Given the description of an element on the screen output the (x, y) to click on. 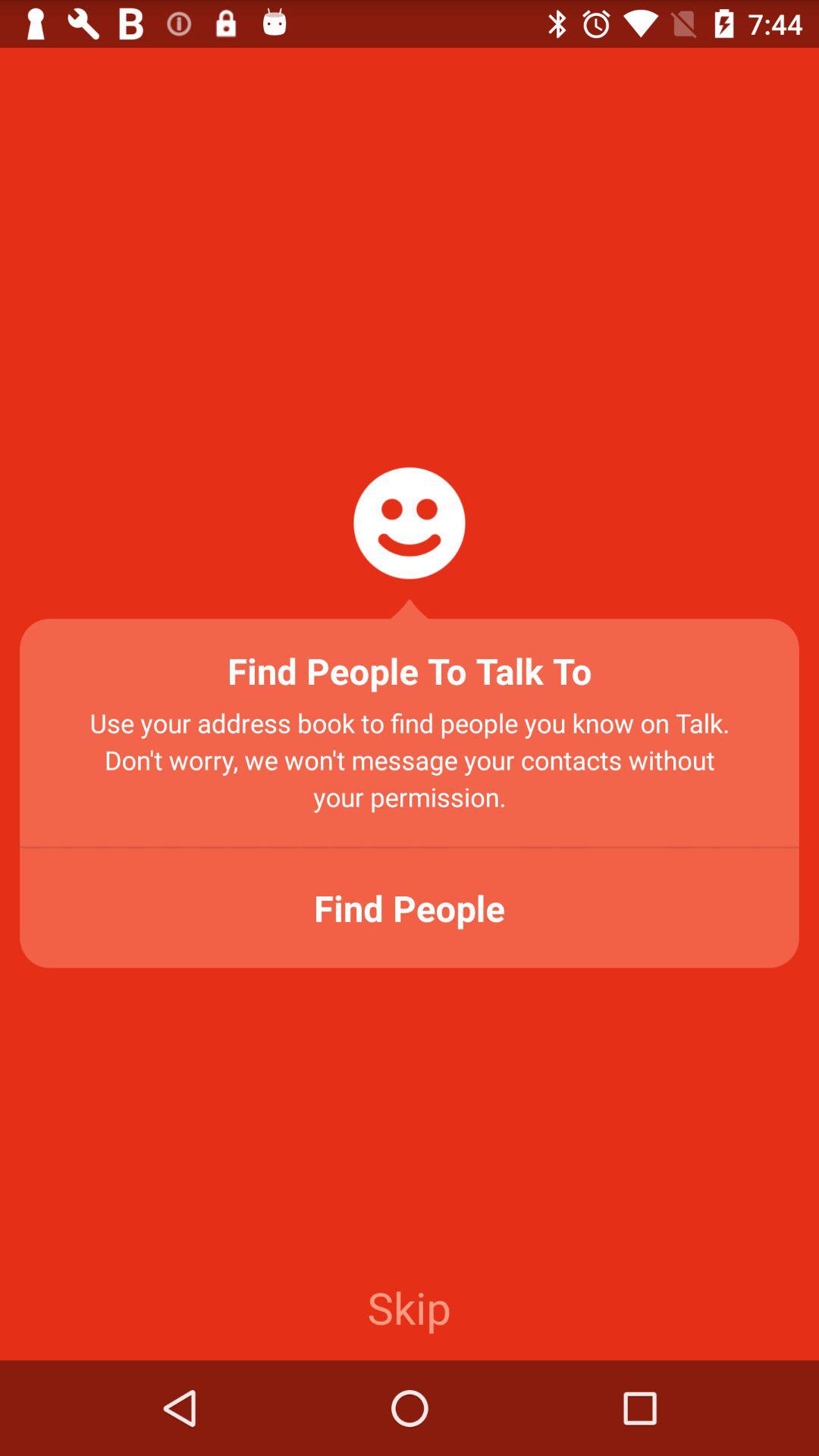
open the skip at the bottom (409, 1306)
